Given the description of an element on the screen output the (x, y) to click on. 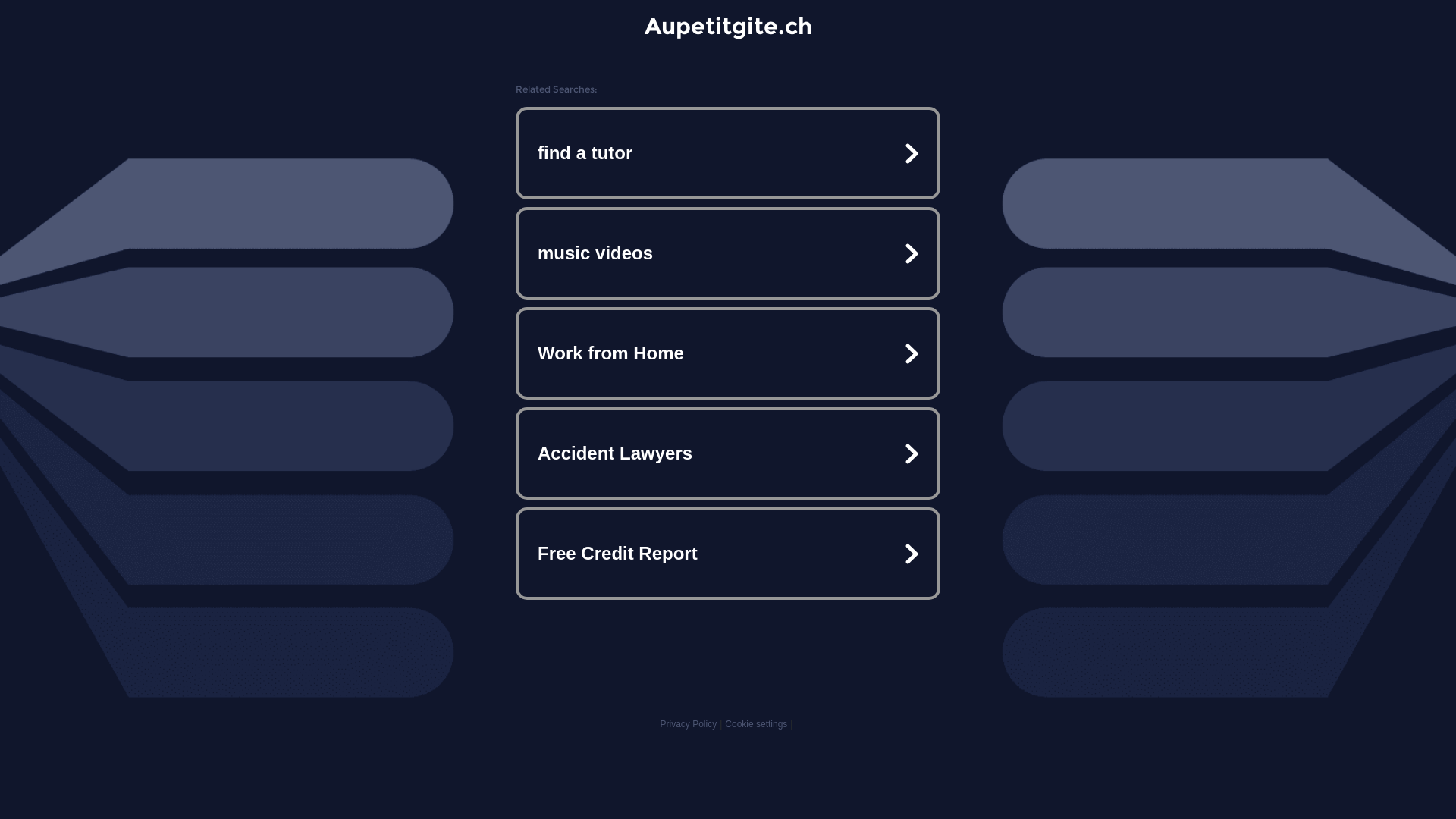
Aupetitgite.ch Element type: text (728, 26)
music videos Element type: text (727, 253)
Cookie settings Element type: text (755, 723)
Privacy Policy Element type: text (687, 723)
find a tutor Element type: text (727, 152)
Free Credit Report Element type: text (727, 553)
Accident Lawyers Element type: text (727, 453)
Work from Home Element type: text (727, 353)
